Given the description of an element on the screen output the (x, y) to click on. 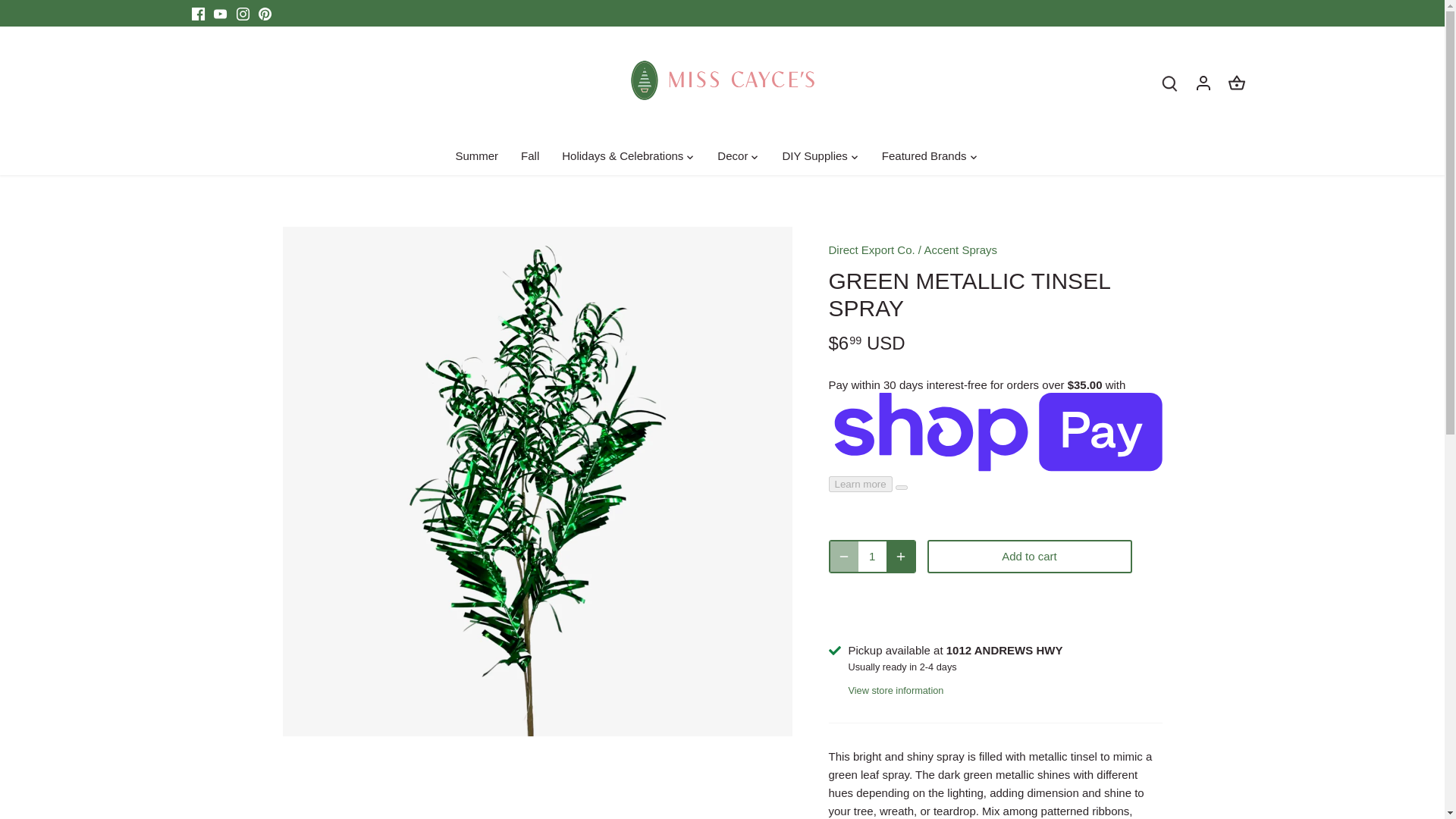
Facebook (196, 13)
Pinterest (265, 13)
Youtube (220, 13)
Fall (529, 157)
1 (872, 556)
Summer (481, 157)
Instagram (241, 13)
